Given the description of an element on the screen output the (x, y) to click on. 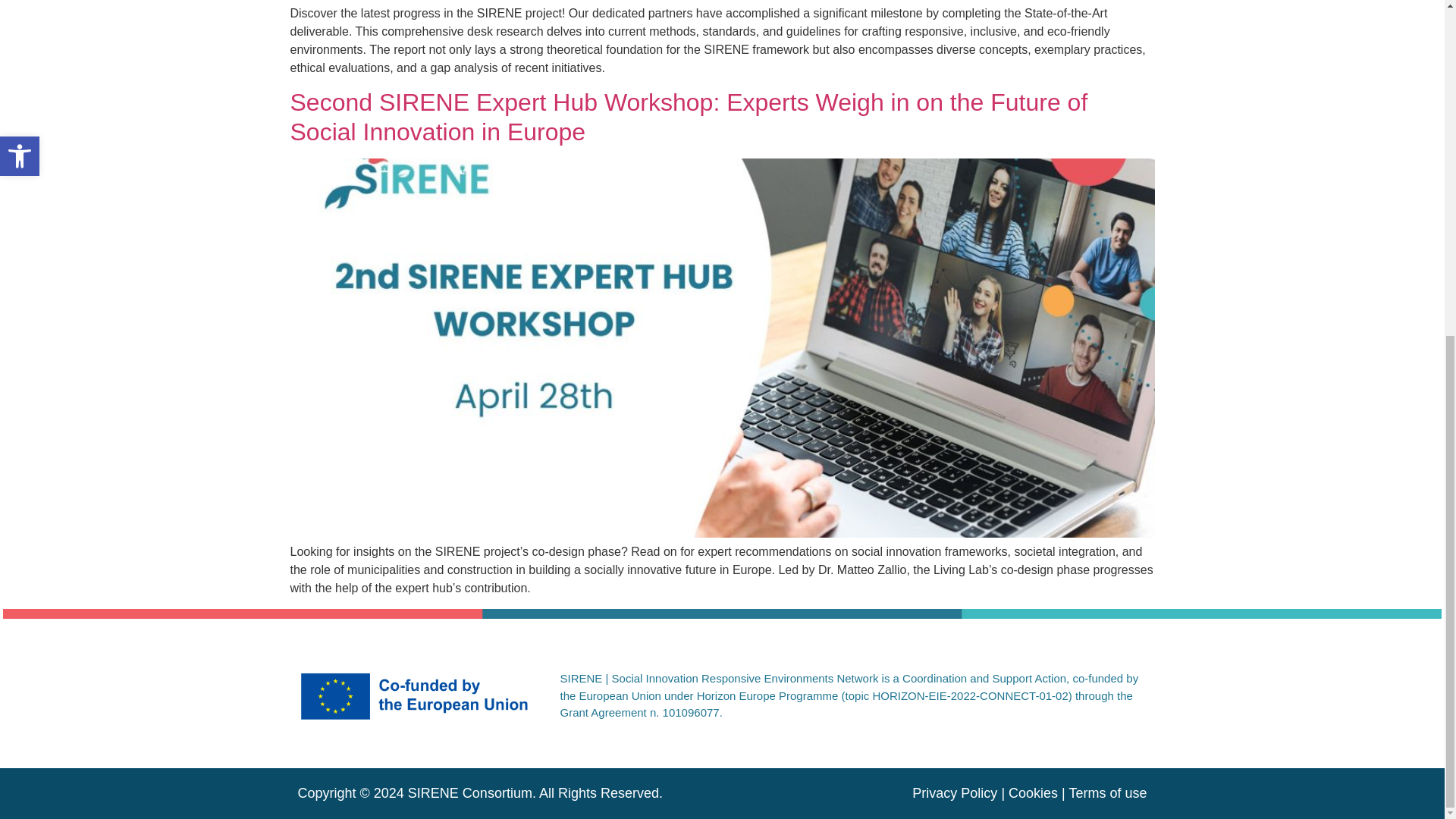
Terms of use (1107, 792)
Cookies (1033, 792)
Privacy Policy (954, 792)
